Given the description of an element on the screen output the (x, y) to click on. 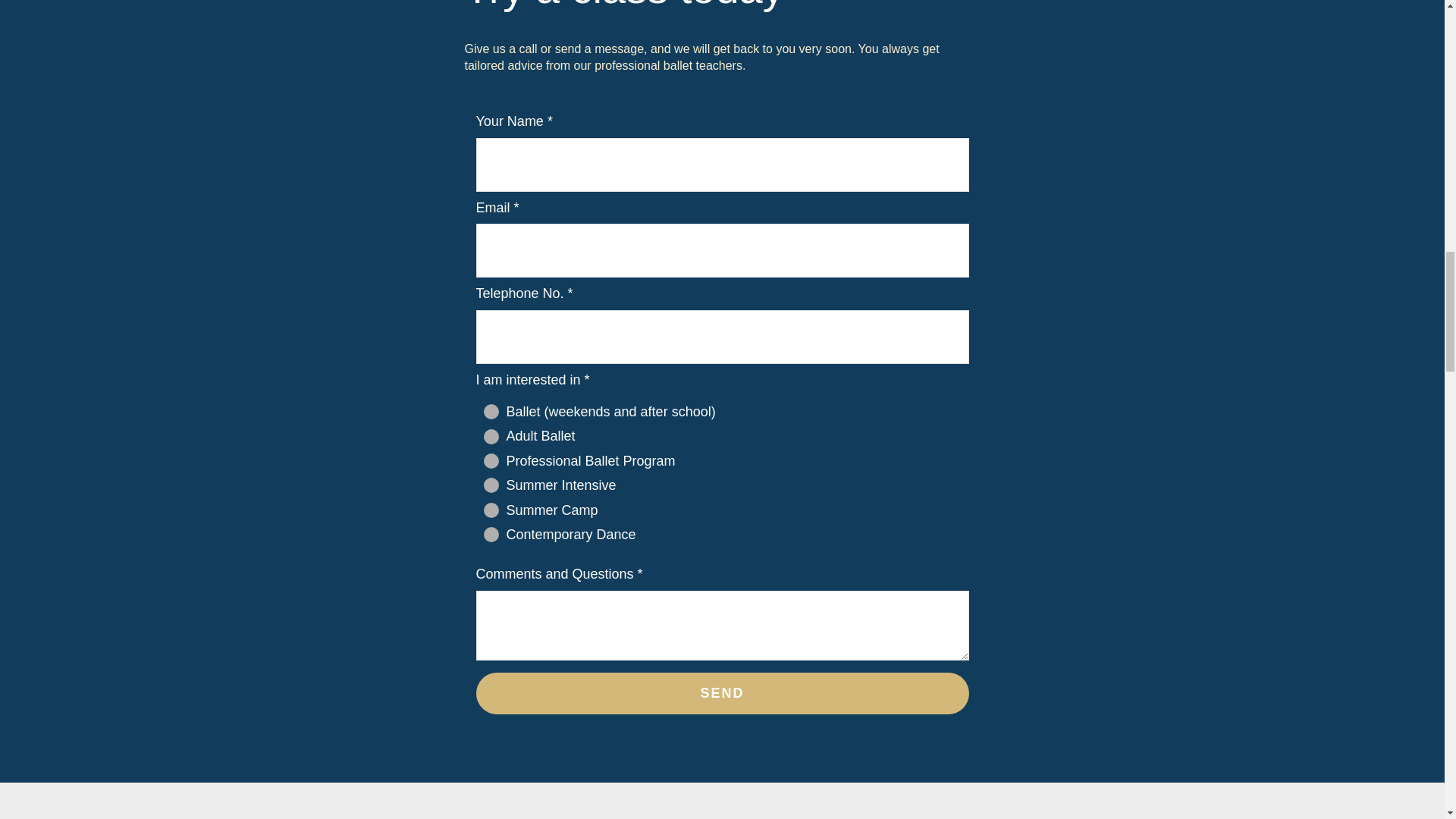
SEND (722, 693)
